Given the description of an element on the screen output the (x, y) to click on. 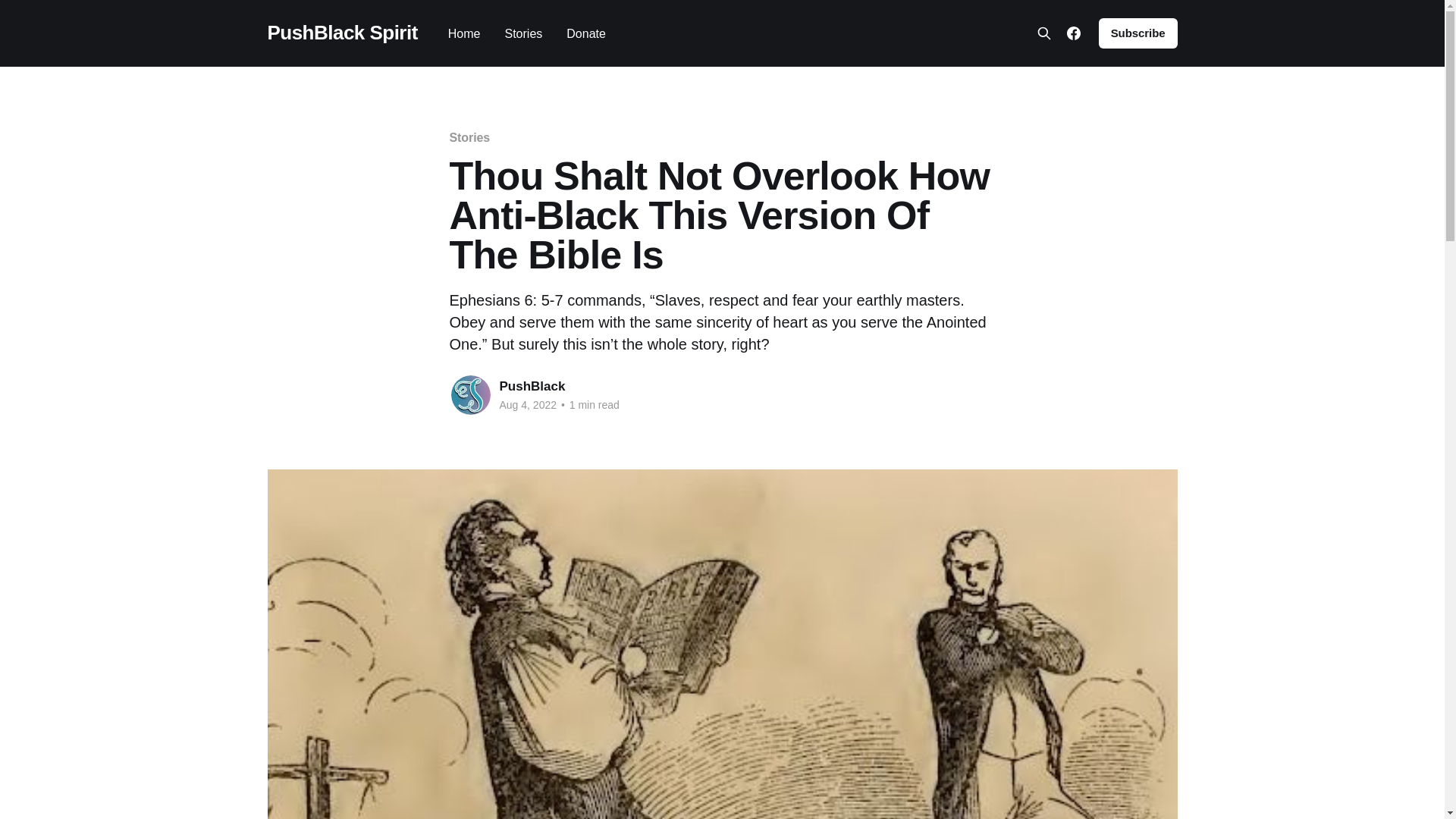
Home (464, 33)
Stories (468, 137)
Stories (522, 33)
PushBlack (531, 386)
Donate (585, 33)
PushBlack Spirit (341, 32)
Facebook (1073, 33)
Subscribe (1138, 33)
